Given the description of an element on the screen output the (x, y) to click on. 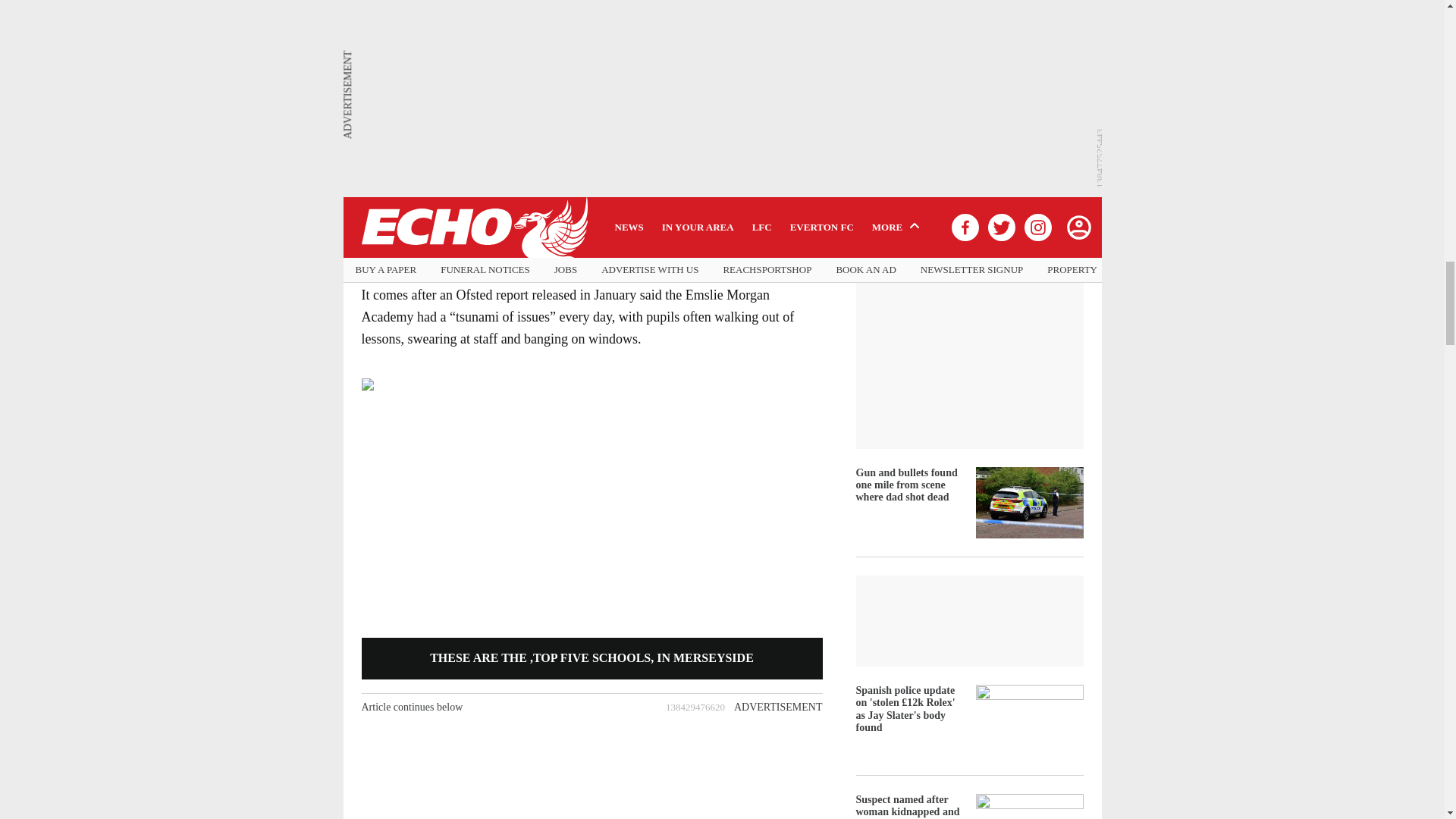
3rd party ad content (590, 769)
